Given the description of an element on the screen output the (x, y) to click on. 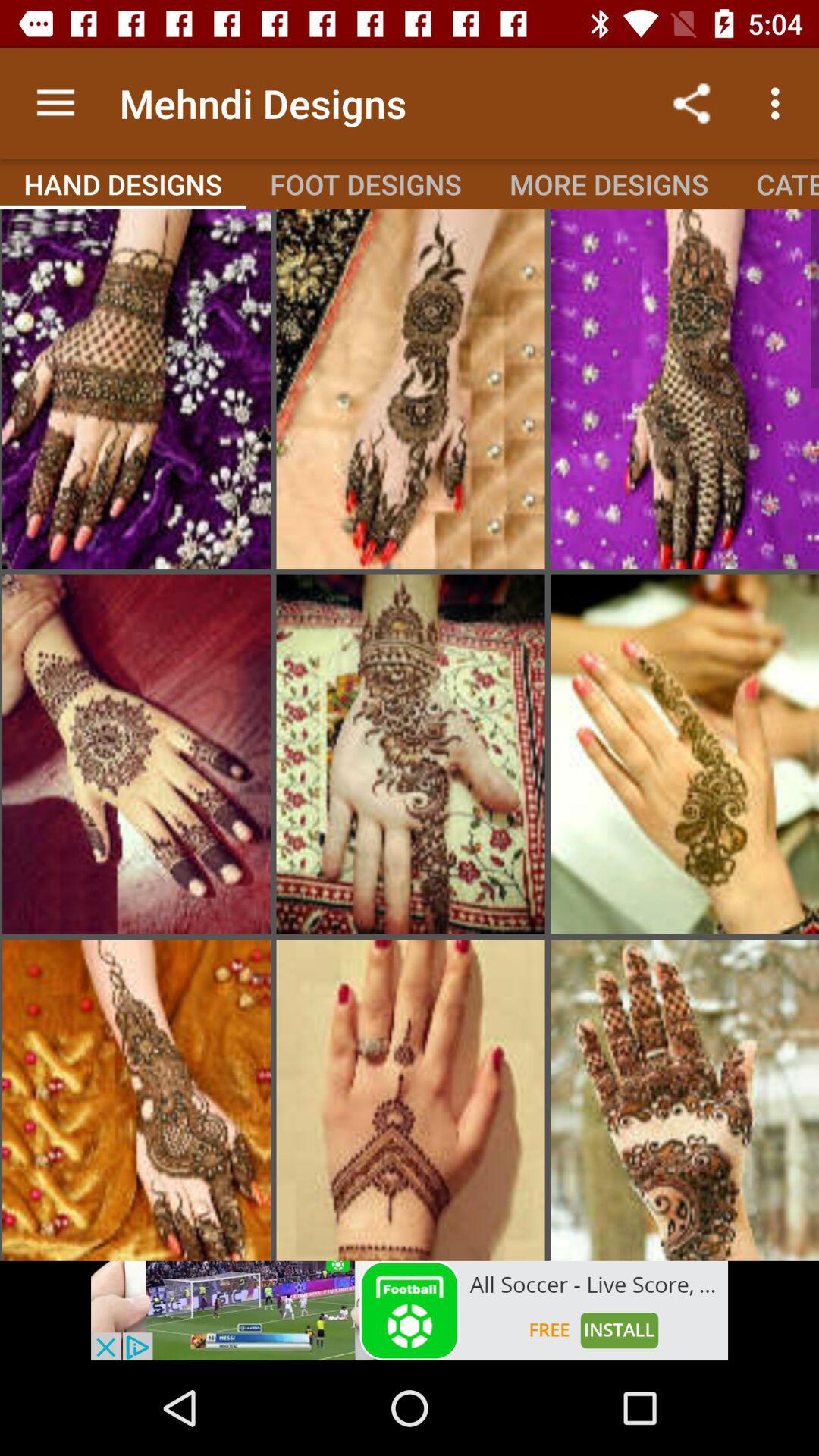
advertisement box (409, 1310)
